Given the description of an element on the screen output the (x, y) to click on. 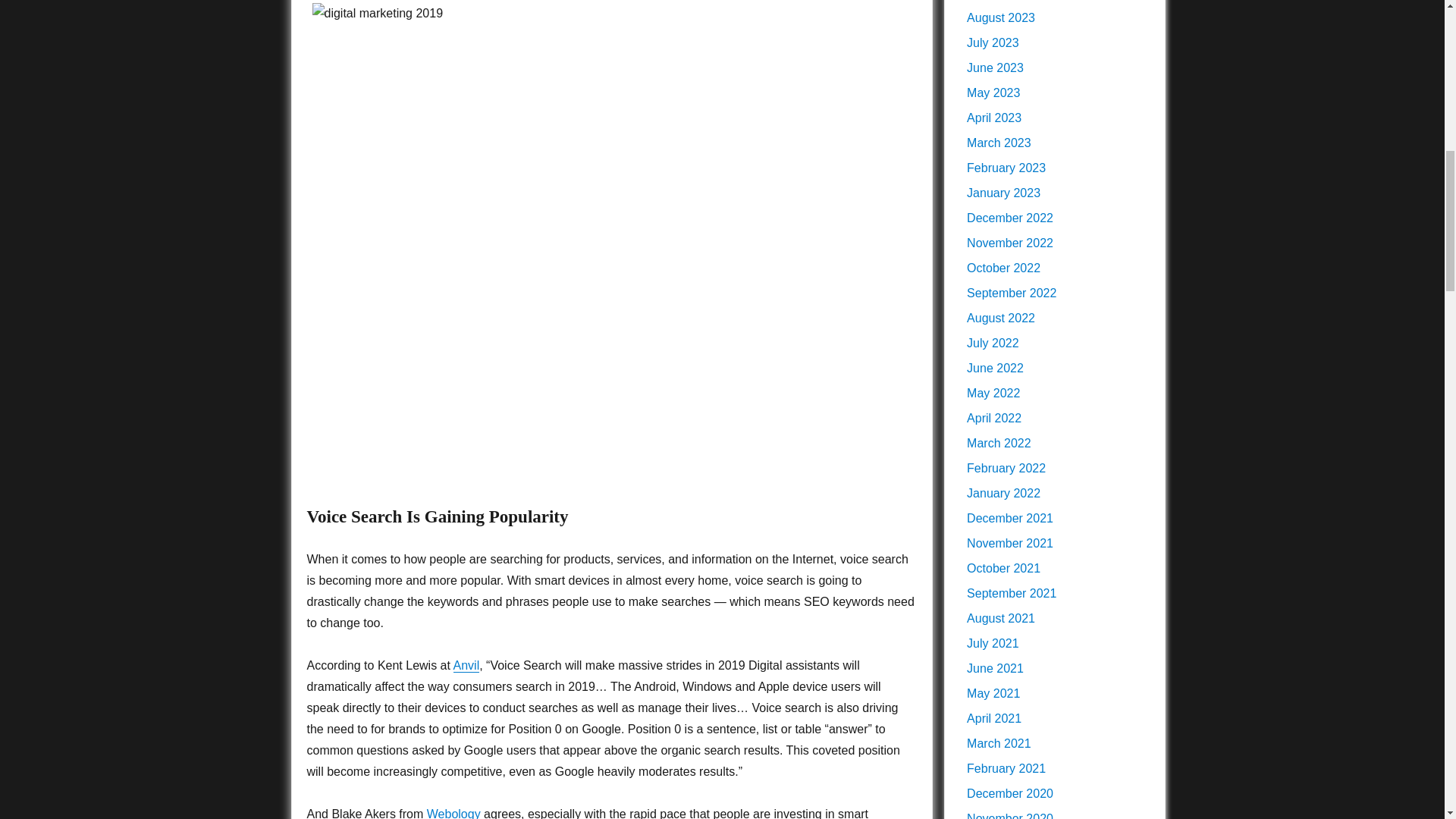
August 2023 (1000, 17)
Webology (453, 813)
July 2023 (992, 42)
Anvil (466, 665)
